Given the description of an element on the screen output the (x, y) to click on. 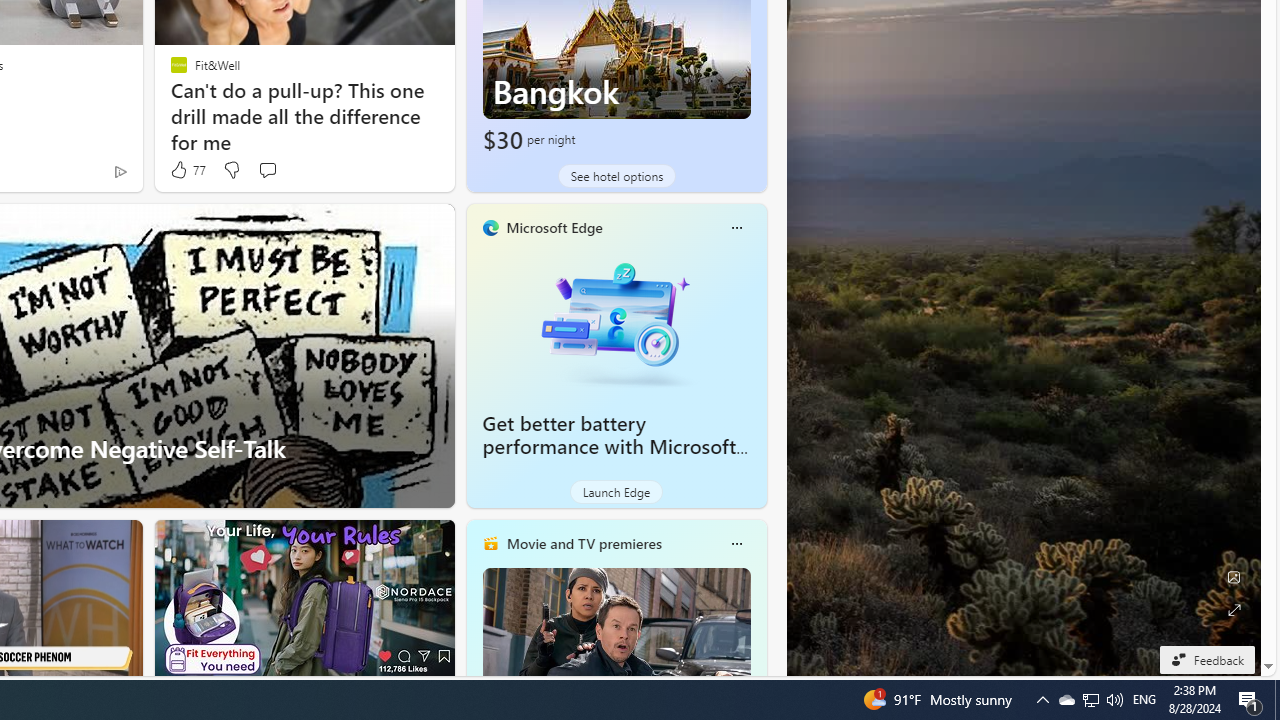
Get better battery performance with Microsoft Edge (616, 321)
